Given the description of an element on the screen output the (x, y) to click on. 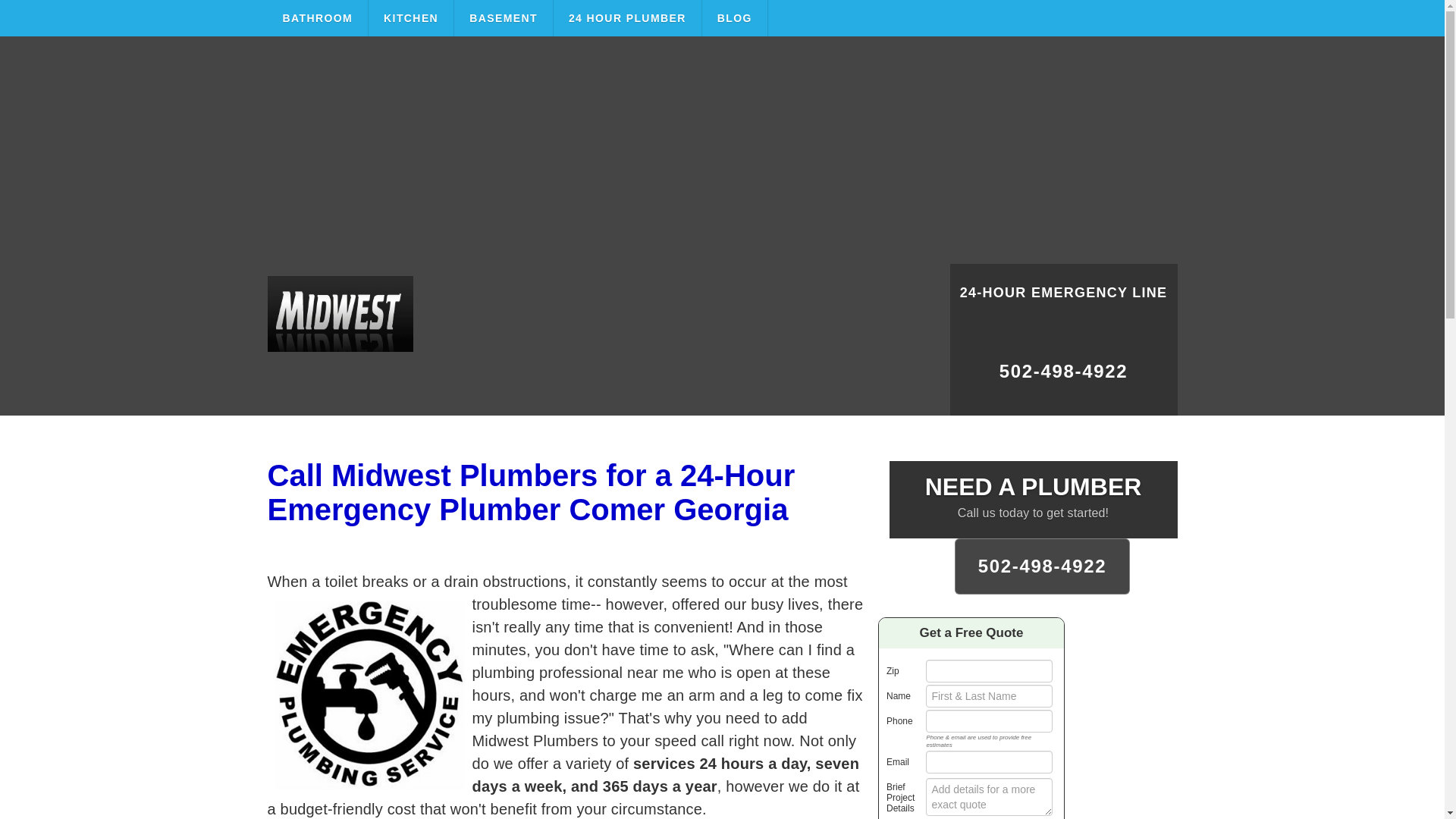
BATHROOM (317, 18)
KITCHEN (411, 18)
BLOG (734, 18)
BASEMENT (503, 18)
502-498-4922 (1043, 566)
24-HOUR EMERGENCY LINE (1062, 301)
502-498-4922 (1062, 377)
24 HOUR PLUMBER (627, 18)
